Given the description of an element on the screen output the (x, y) to click on. 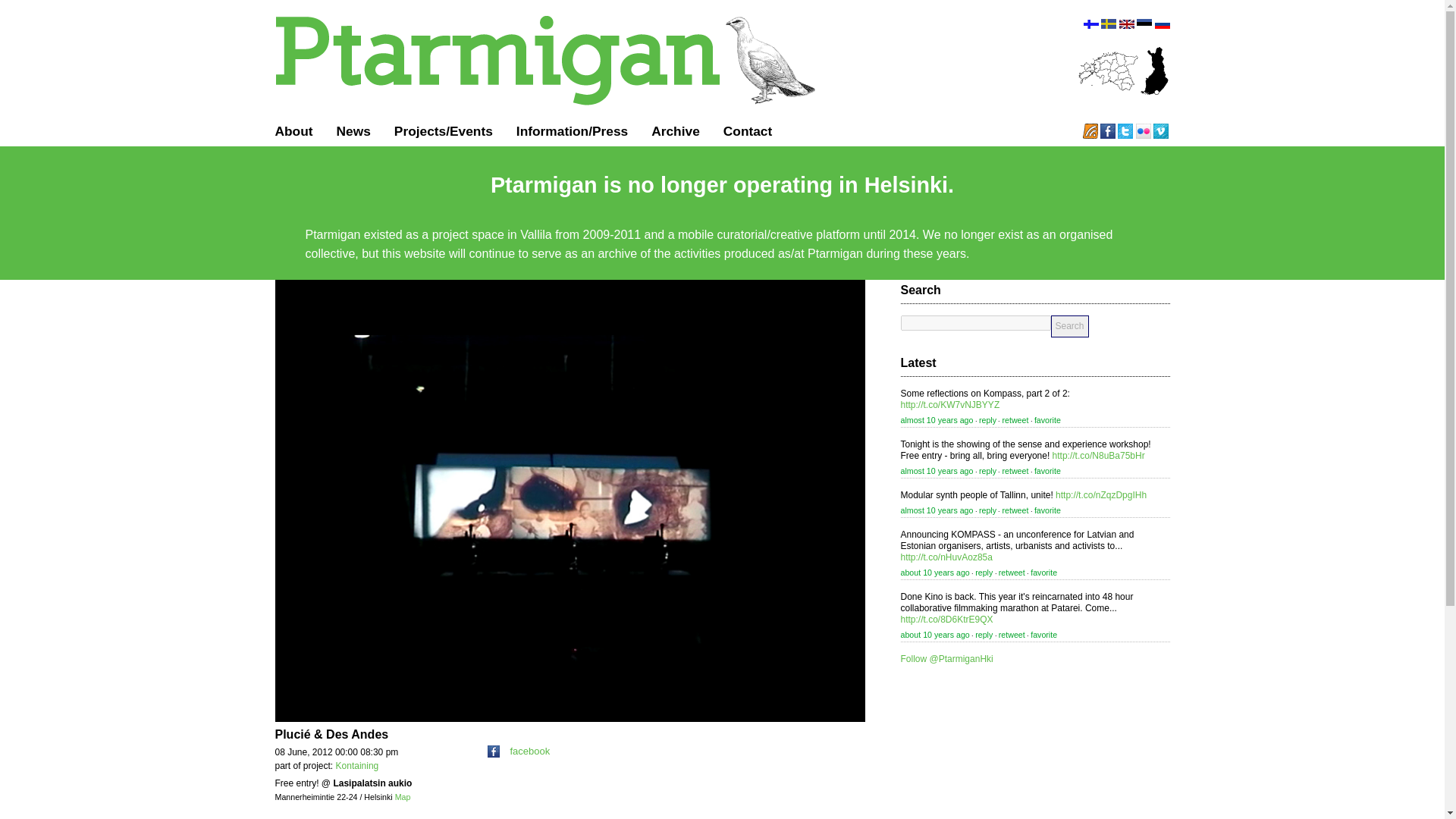
reply (986, 510)
favorite (1047, 470)
translation missing: en.information (552, 130)
almost 10 years ago (937, 420)
retweet (1014, 510)
Archive (675, 130)
retweet (1014, 420)
About (294, 130)
Search (1070, 326)
News (353, 130)
